Given the description of an element on the screen output the (x, y) to click on. 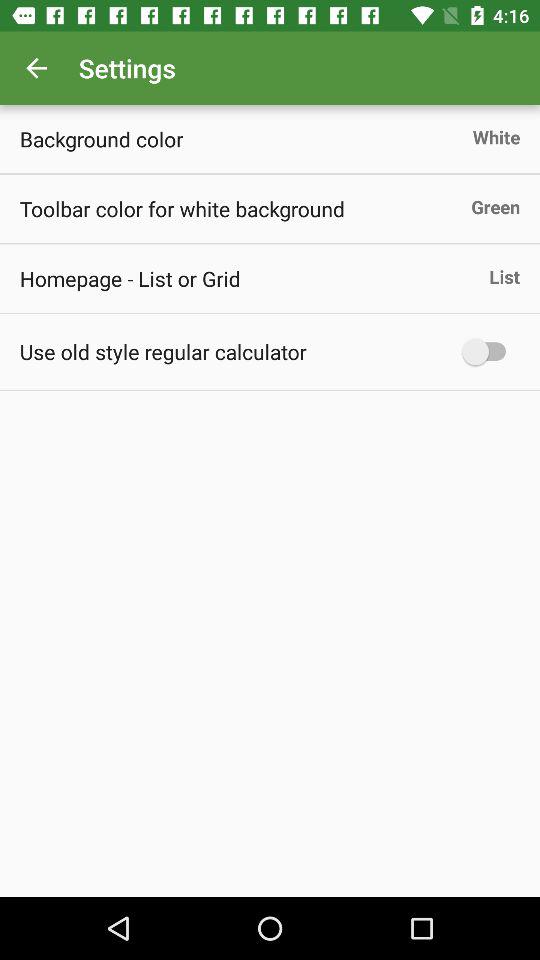
launch the item to the right of use old style icon (488, 351)
